Given the description of an element on the screen output the (x, y) to click on. 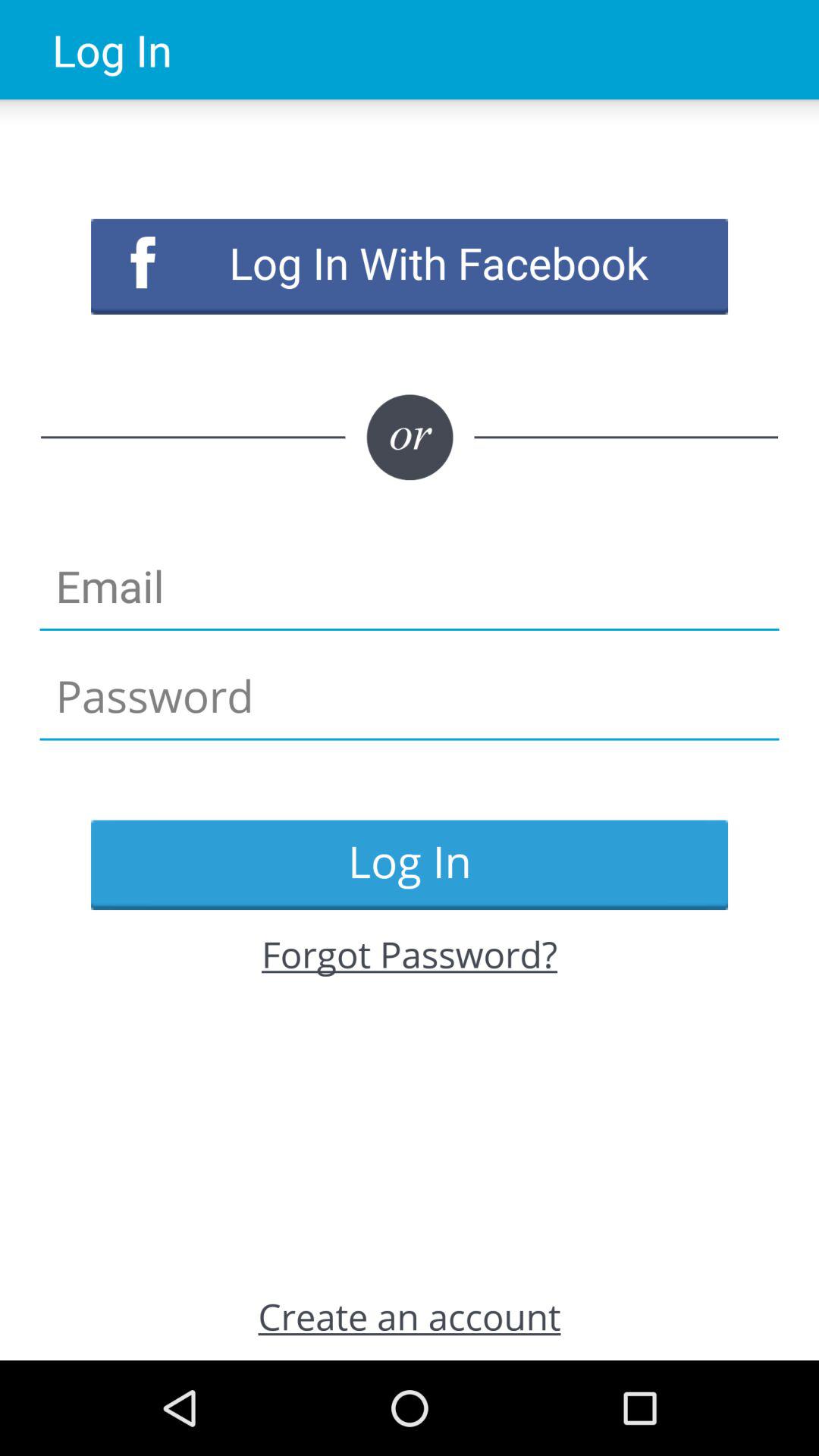
click forgot password? item (409, 953)
